Given the description of an element on the screen output the (x, y) to click on. 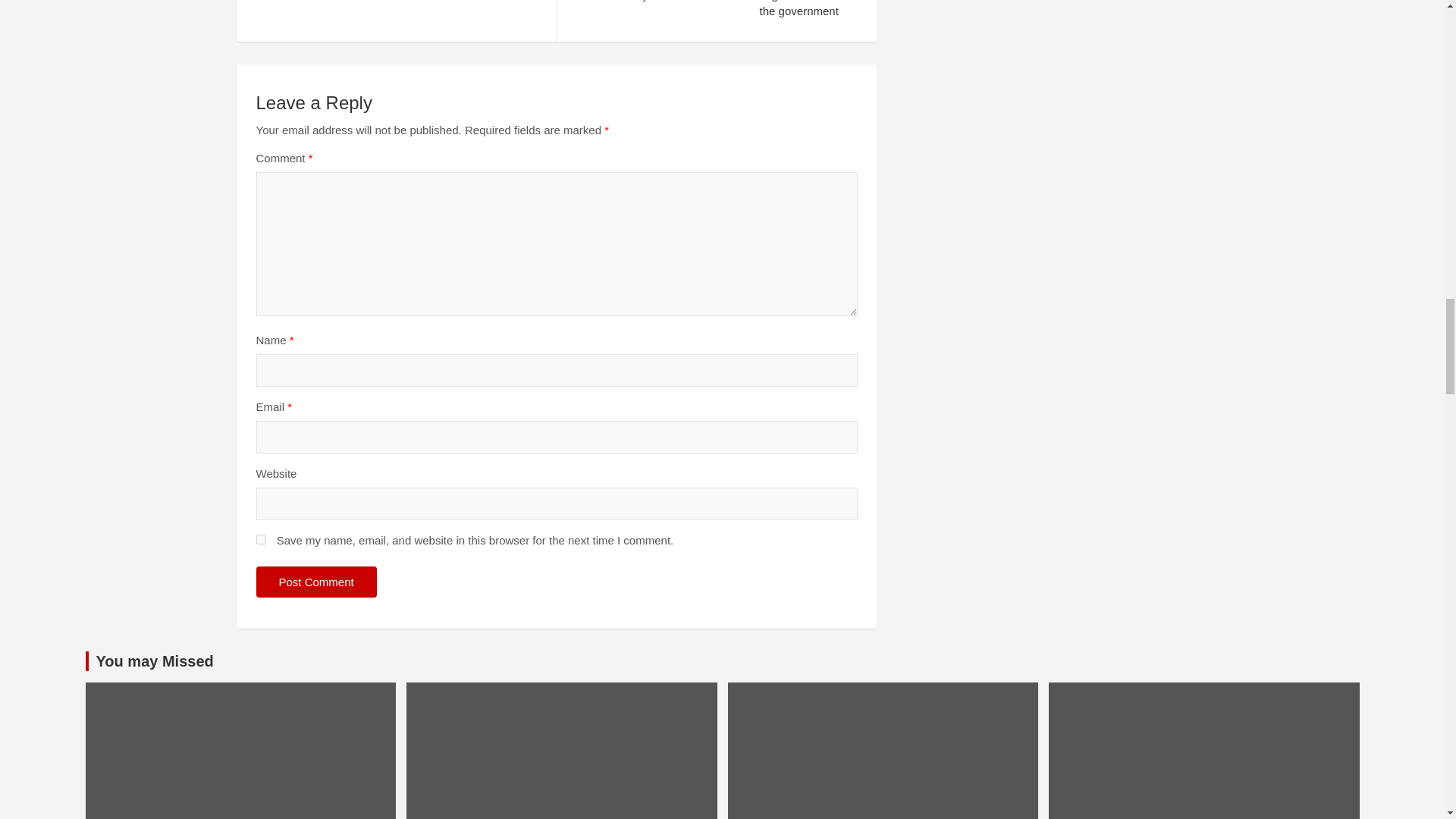
yes (261, 539)
Post Comment (316, 581)
